Given the description of an element on the screen output the (x, y) to click on. 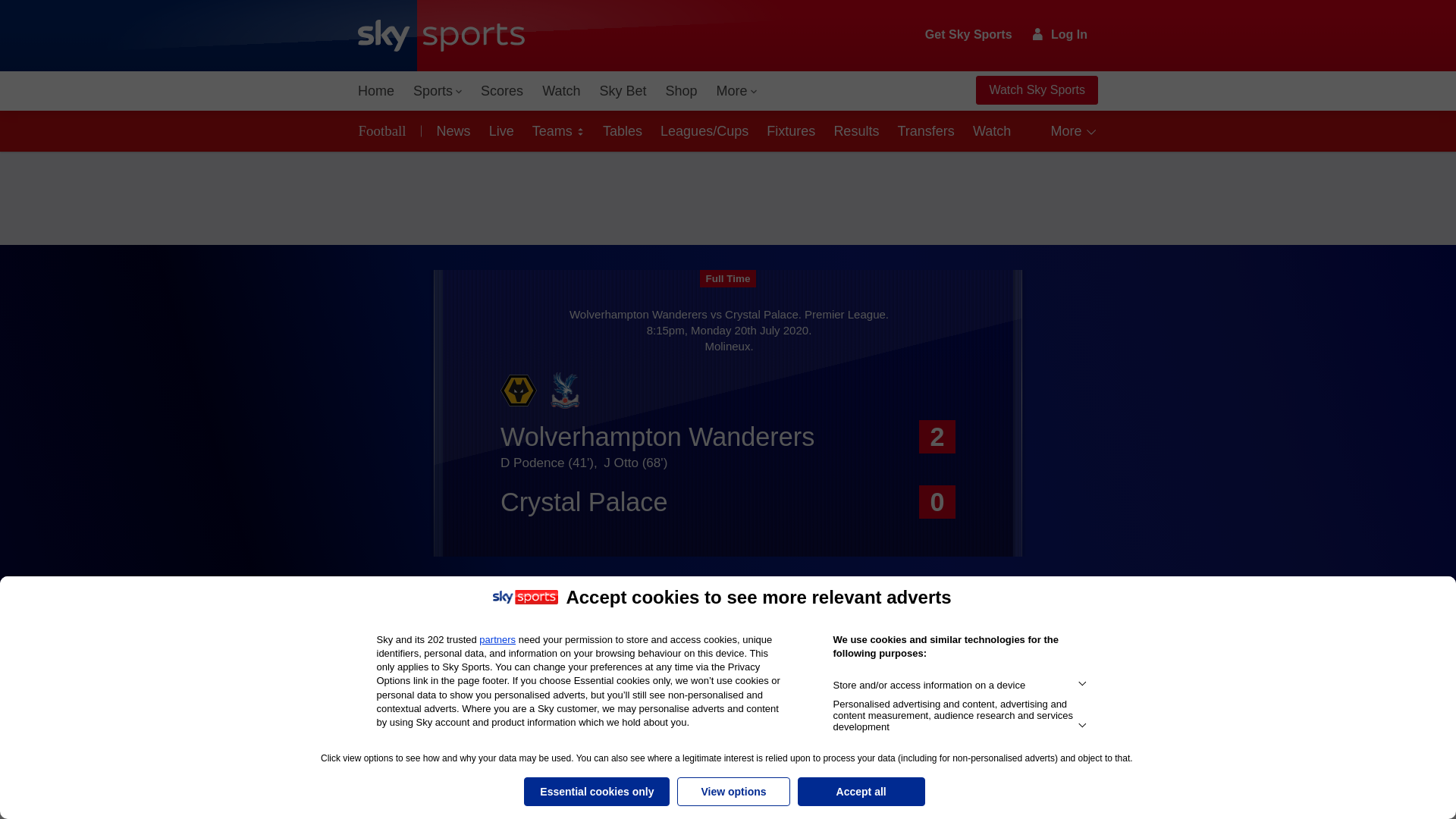
Watch (561, 91)
Football (385, 130)
Scores (502, 91)
More (736, 91)
News (451, 130)
Log In (1060, 33)
Get Sky Sports (968, 34)
Sports (437, 91)
Home (375, 91)
Sky Bet (622, 91)
